Given the description of an element on the screen output the (x, y) to click on. 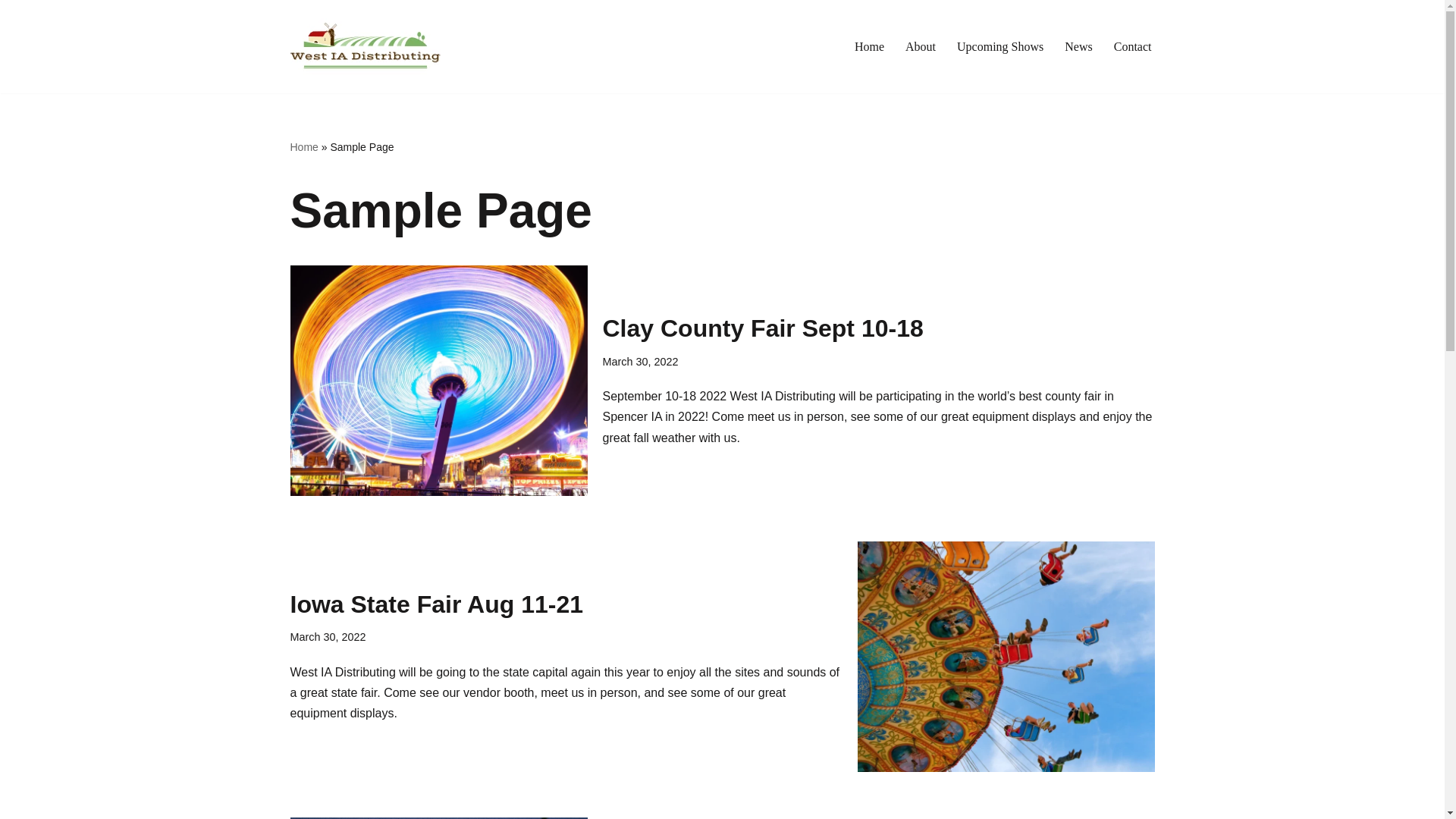
Clay County Fair Sept 10-18 (437, 380)
Home (868, 46)
Skip to content (11, 31)
News (1078, 46)
Iowa State Fair Aug 11-21 (1005, 656)
Contact (1132, 46)
Home (303, 146)
About (920, 46)
Upcoming Shows (999, 46)
Clay County Fair Sept 10-18 (762, 328)
Iowa State Fair Aug 11-21 (435, 604)
